Given the description of an element on the screen output the (x, y) to click on. 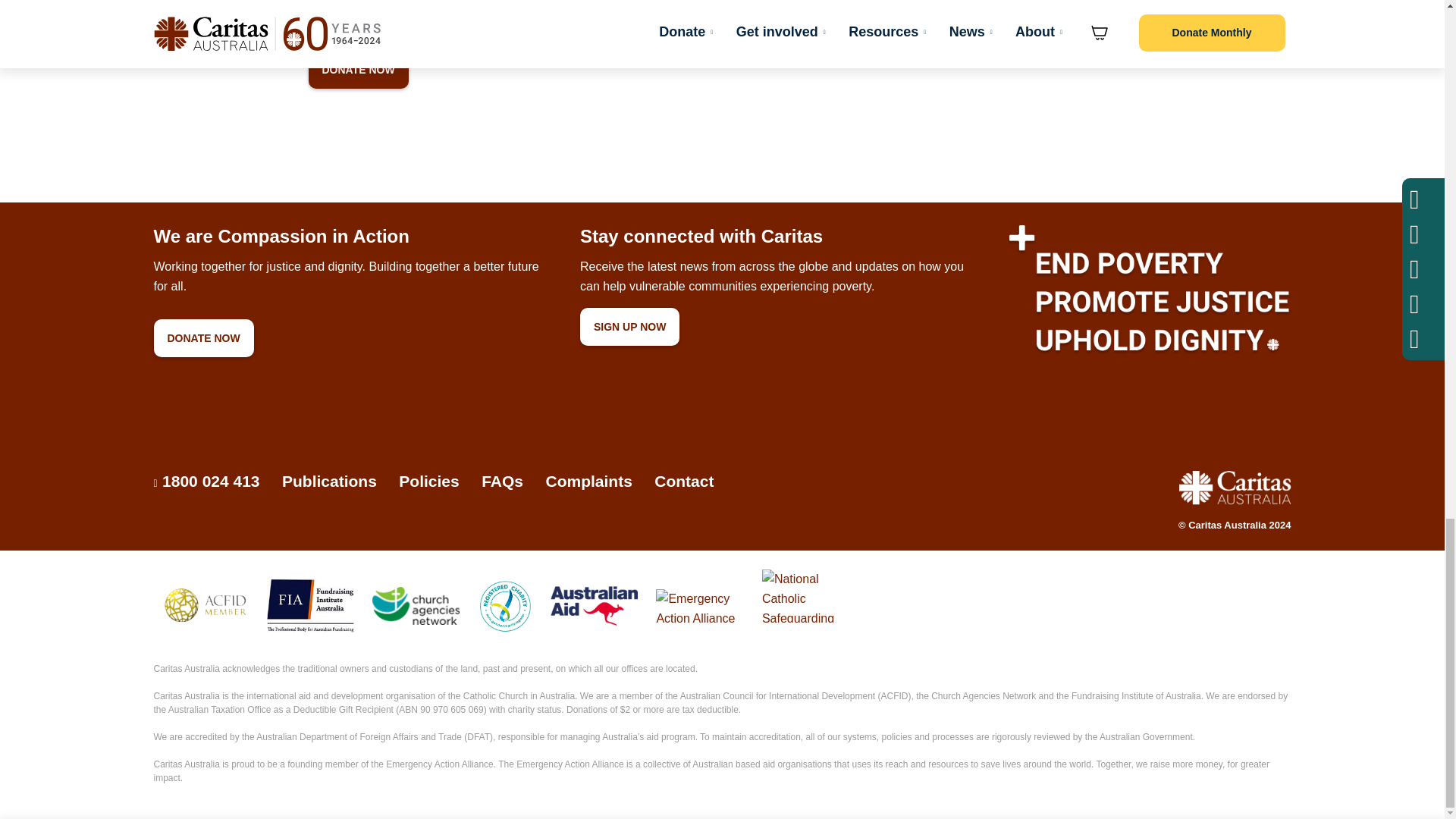
Gaza Crisis (357, 69)
